Given the description of an element on the screen output the (x, y) to click on. 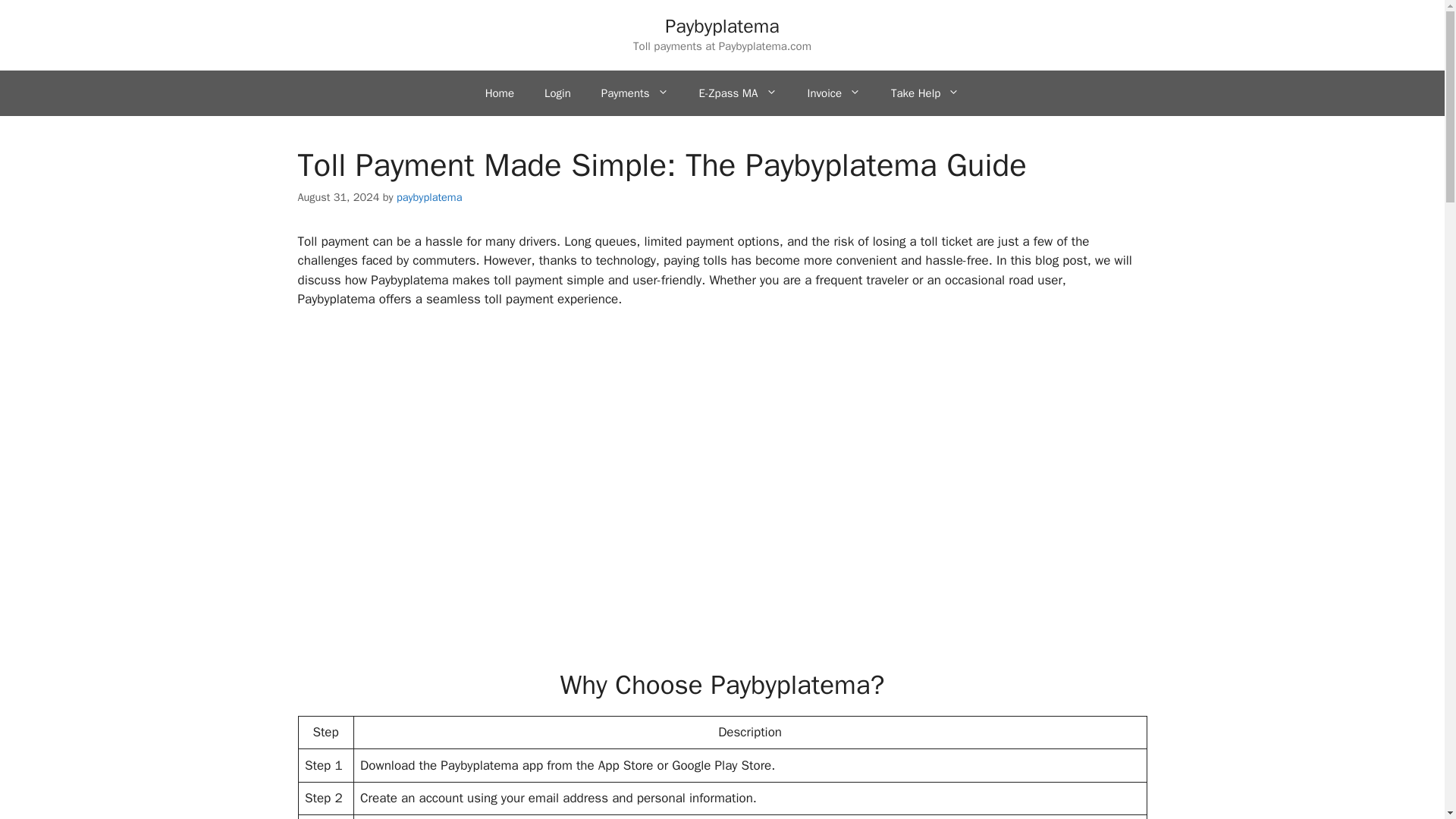
Take Help (925, 92)
Invoice (834, 92)
View all posts by paybyplatema (429, 196)
paybyplatema (429, 196)
E-Zpass MA (738, 92)
Paybyplatema (721, 25)
Home (499, 92)
Payments (635, 92)
Login (557, 92)
